Given the description of an element on the screen output the (x, y) to click on. 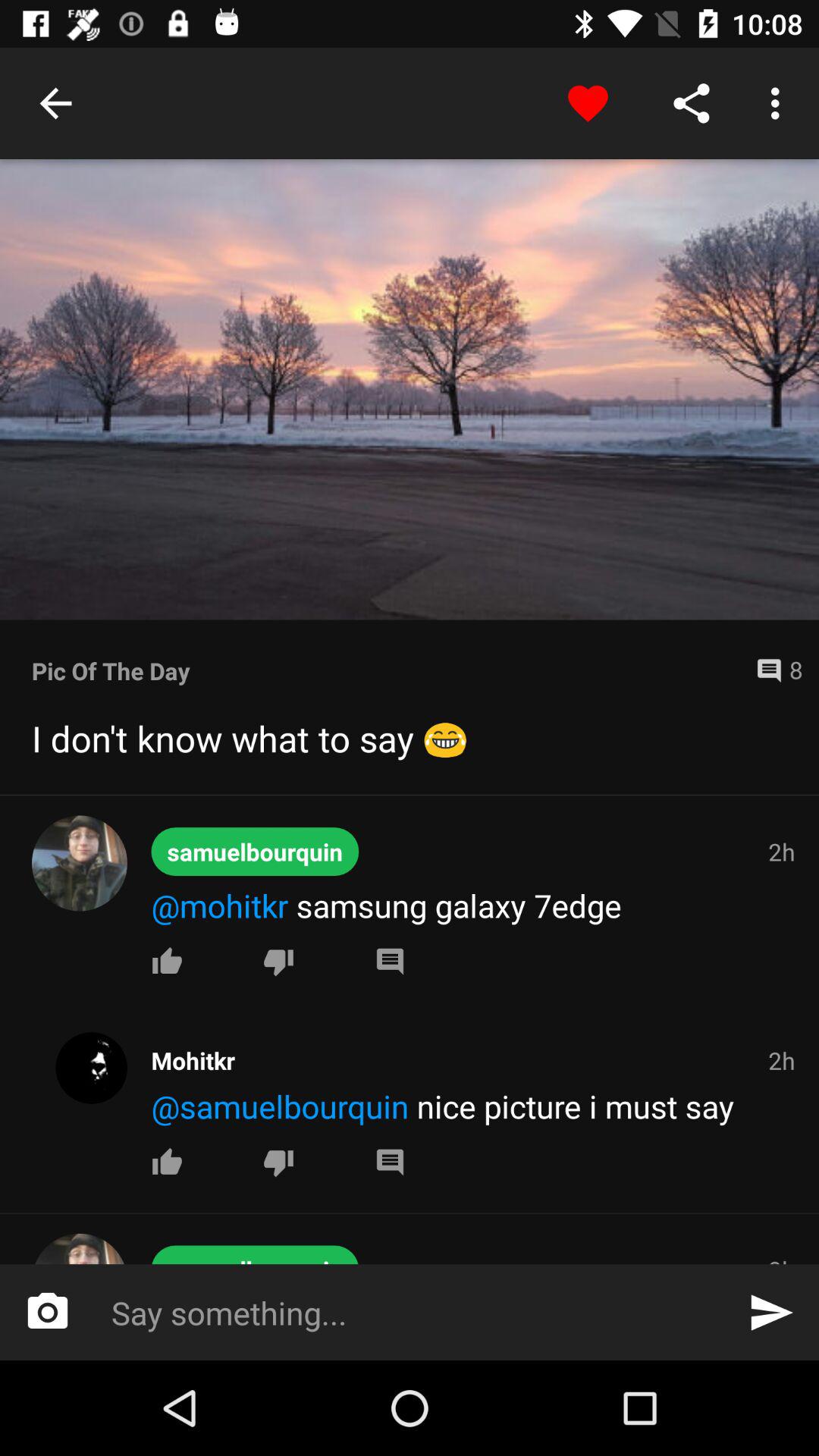
flip until i don t item (409, 738)
